Given the description of an element on the screen output the (x, y) to click on. 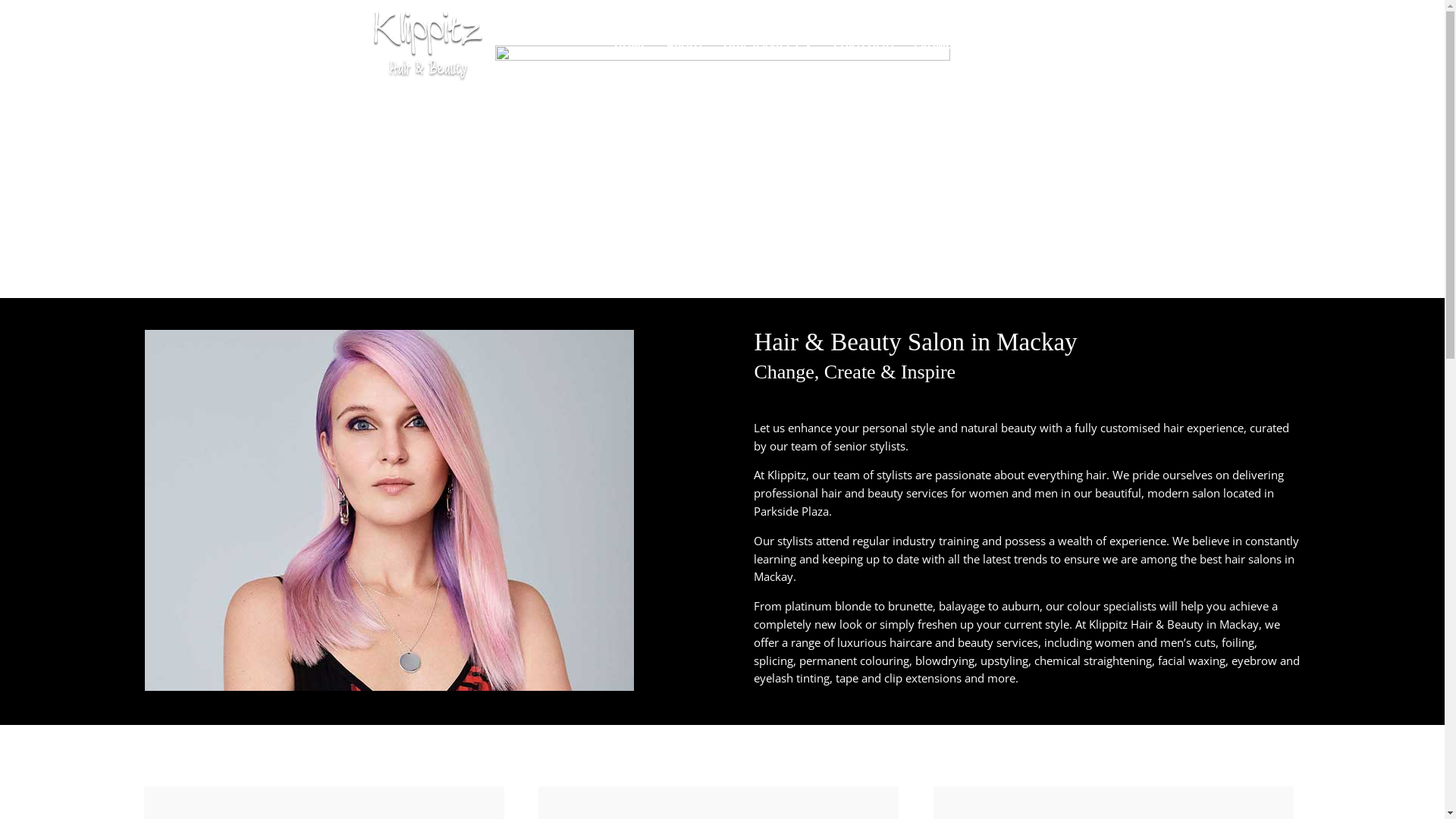
CONTACT Element type: text (998, 63)
PORTFOLIO Element type: text (863, 63)
OUR SERVICES Element type: text (768, 63)
HOME Element type: text (630, 63)
Contact Us Element type: text (716, 231)
ABOUT Element type: text (684, 63)
(07) 4957 4311 Element type: text (1087, 63)
PROMO Element type: text (933, 63)
klippitz-2 Element type: hover (388, 509)
